Given the description of an element on the screen output the (x, y) to click on. 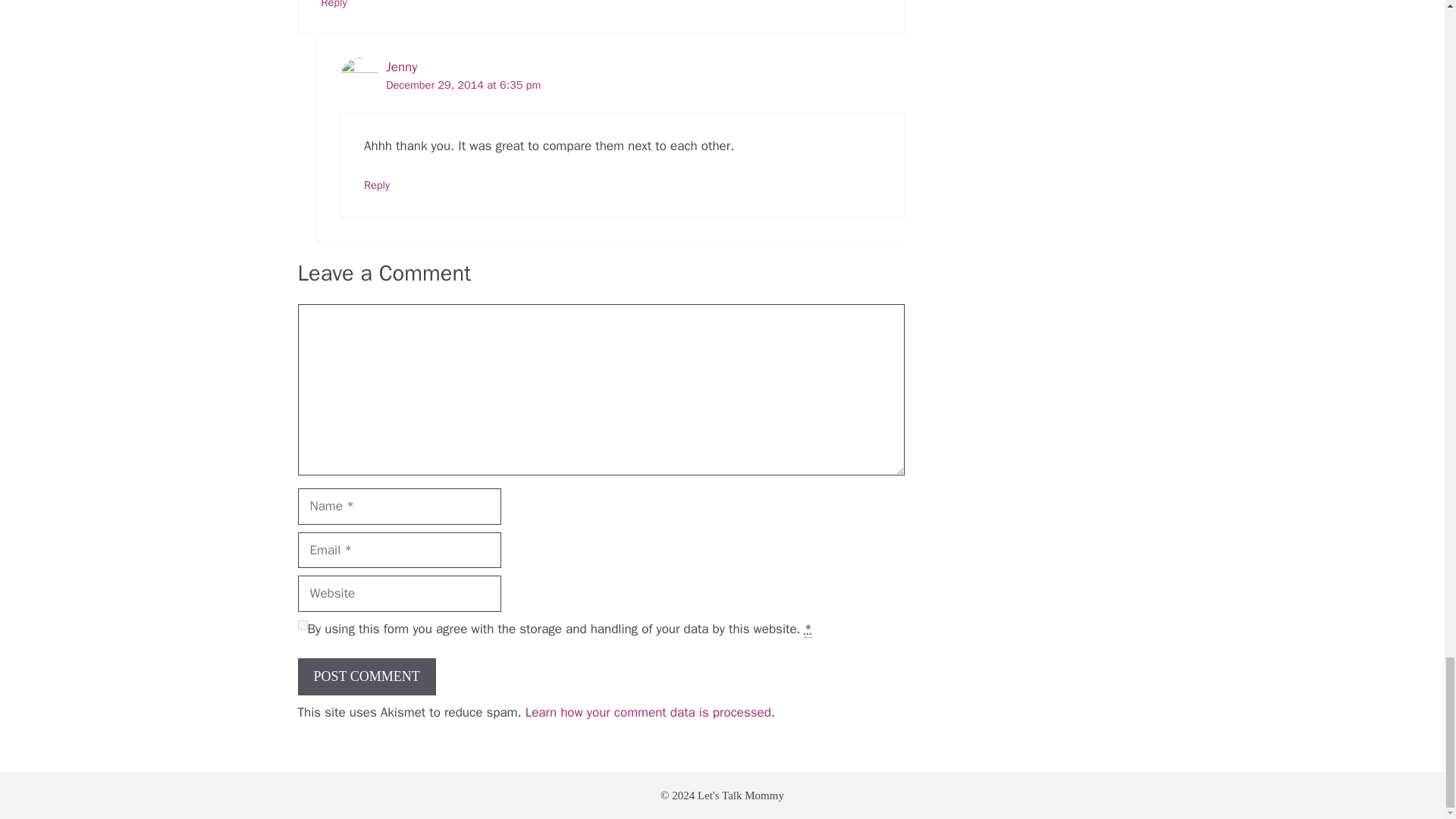
1 (302, 625)
You need to accept this checkbox (808, 629)
December 29, 2014 at 6:35 pm (462, 84)
Reply (334, 4)
Jenny (400, 66)
Reply (377, 184)
Post Comment (366, 676)
Post Comment (366, 676)
Learn how your comment data is processed (648, 712)
